Given the description of an element on the screen output the (x, y) to click on. 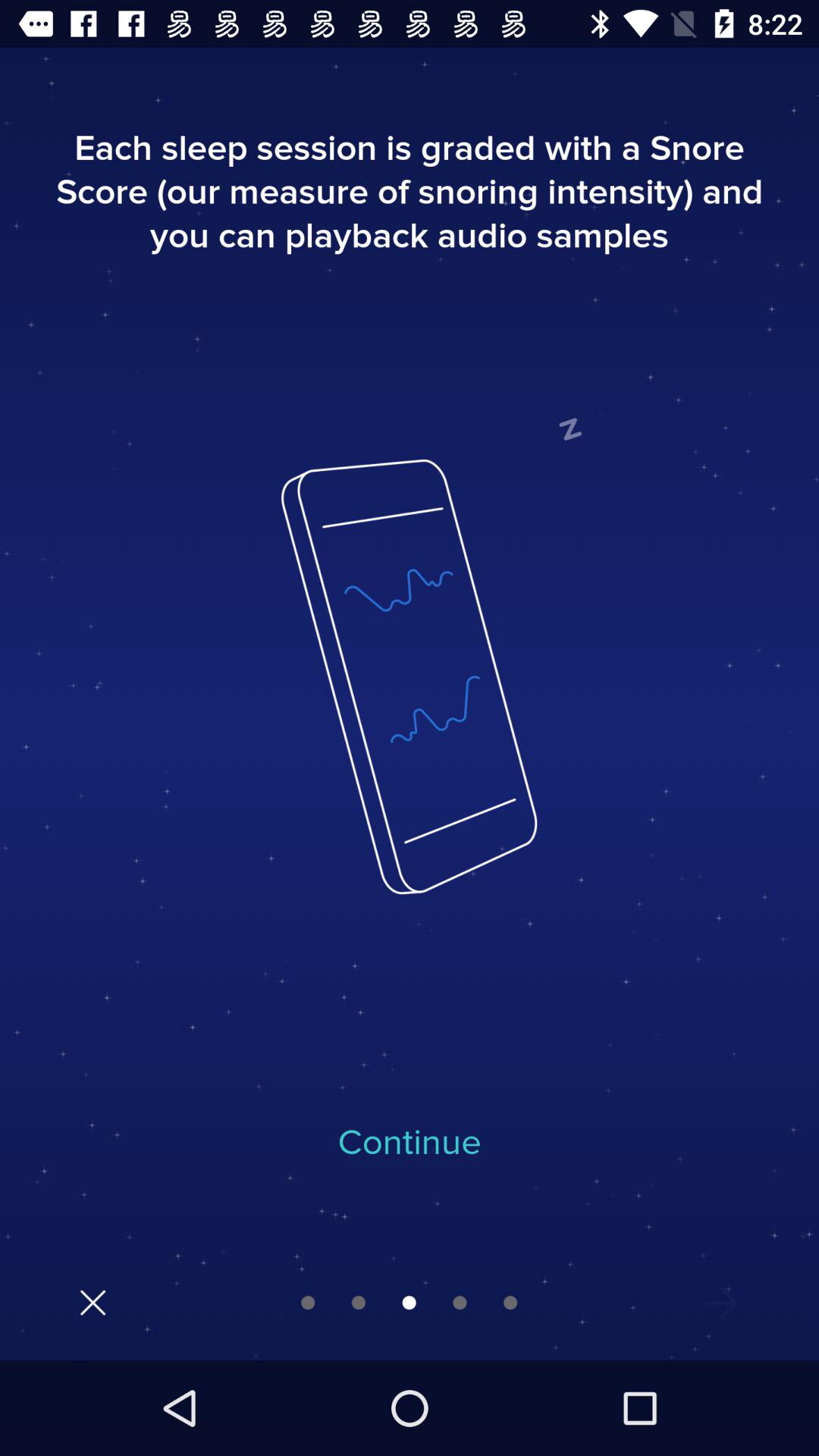
close button (92, 1302)
